Given the description of an element on the screen output the (x, y) to click on. 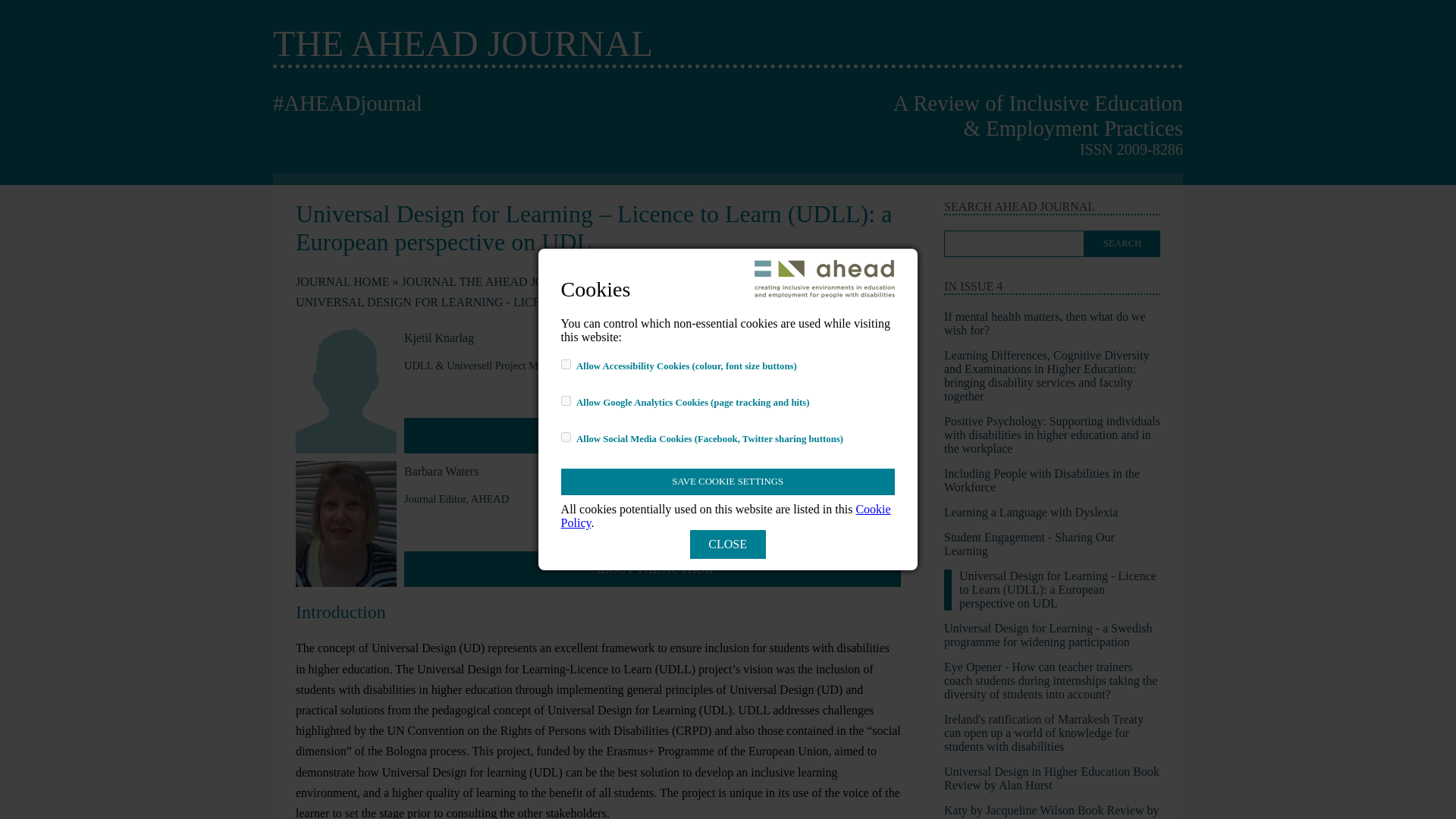
1 (565, 364)
ABOUT THE AUTHOR (652, 569)
Learning a Language with Dyslexia (1030, 512)
JOURNAL HOME (346, 281)
Save Cookie Settings (727, 481)
Including People with Disabilities in the Workforce (1041, 479)
JOURNAL THE AHEAD JOURNAL (497, 281)
If mental health matters, then what do we wish for? (1044, 323)
THIS ARTICLE (640, 281)
Search (1122, 243)
1 (565, 400)
